Given the description of an element on the screen output the (x, y) to click on. 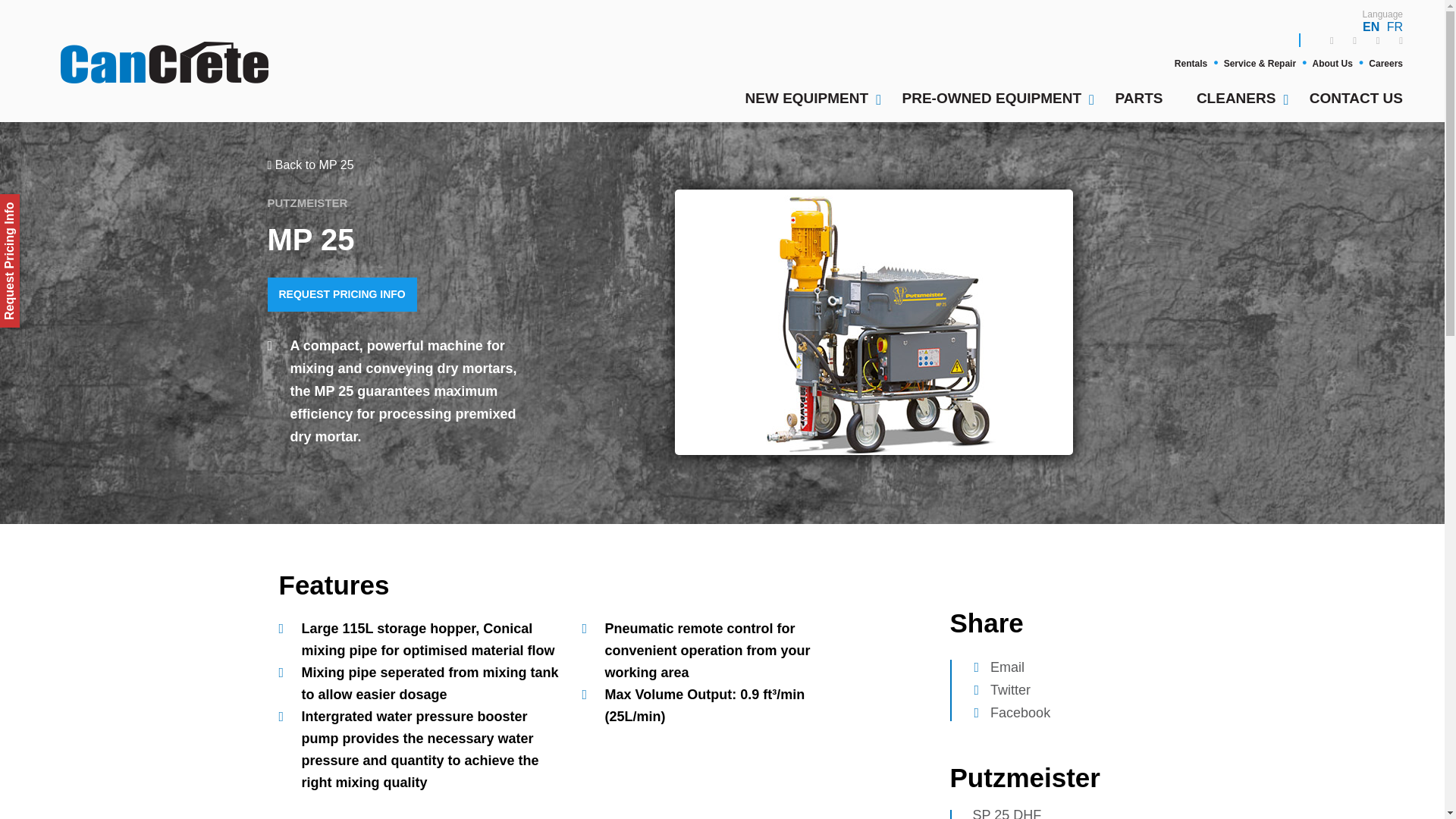
French (1395, 26)
English (1370, 26)
